Given the description of an element on the screen output the (x, y) to click on. 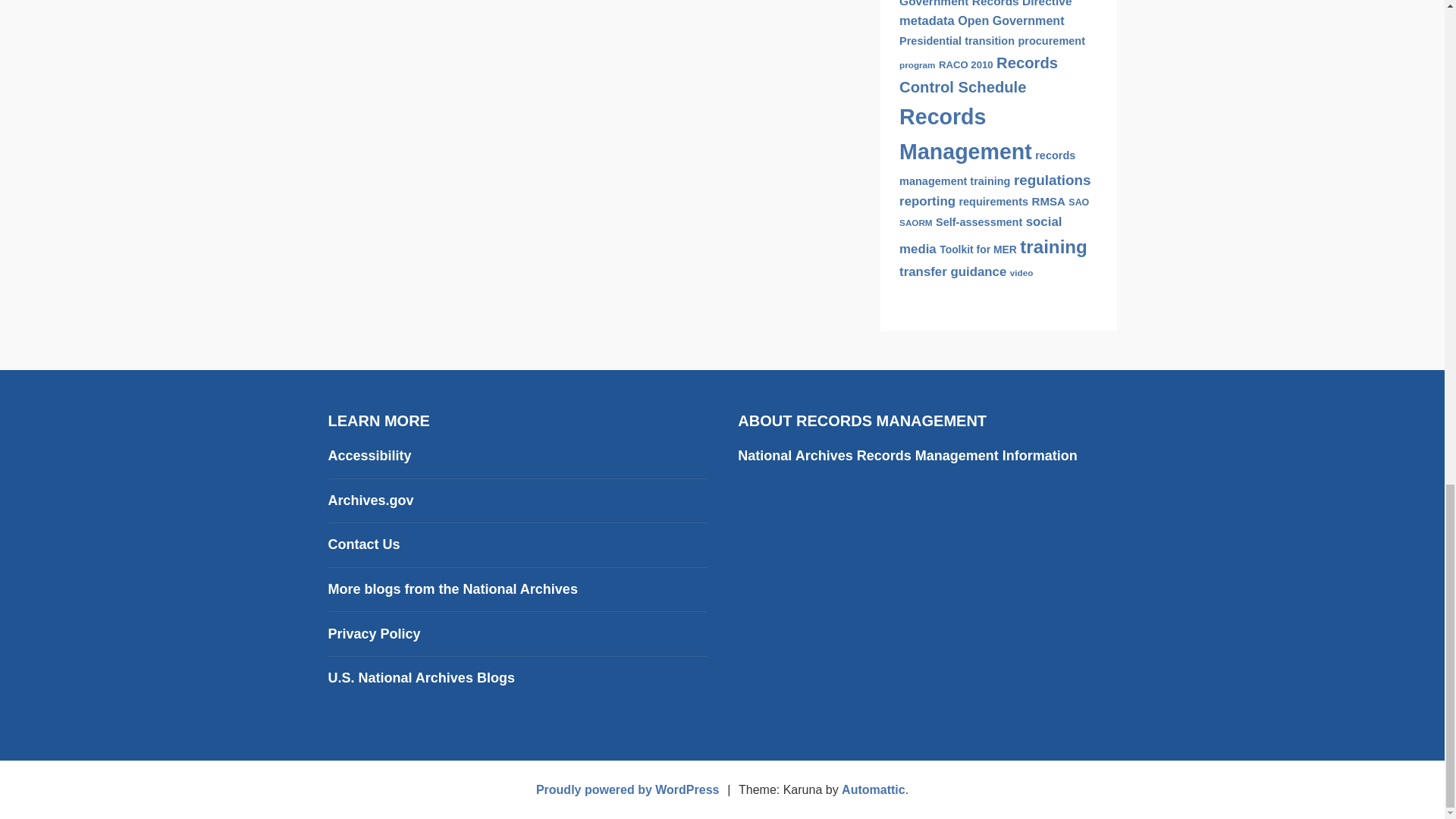
National Archives Records Management webpage (907, 455)
Accessibility information on archives.gov (368, 455)
Contact information (362, 544)
National Archives privacy policy (373, 633)
U.S. National Archives Blogroll (420, 677)
U.S. National Archives Blogroll (451, 589)
